Given the description of an element on the screen output the (x, y) to click on. 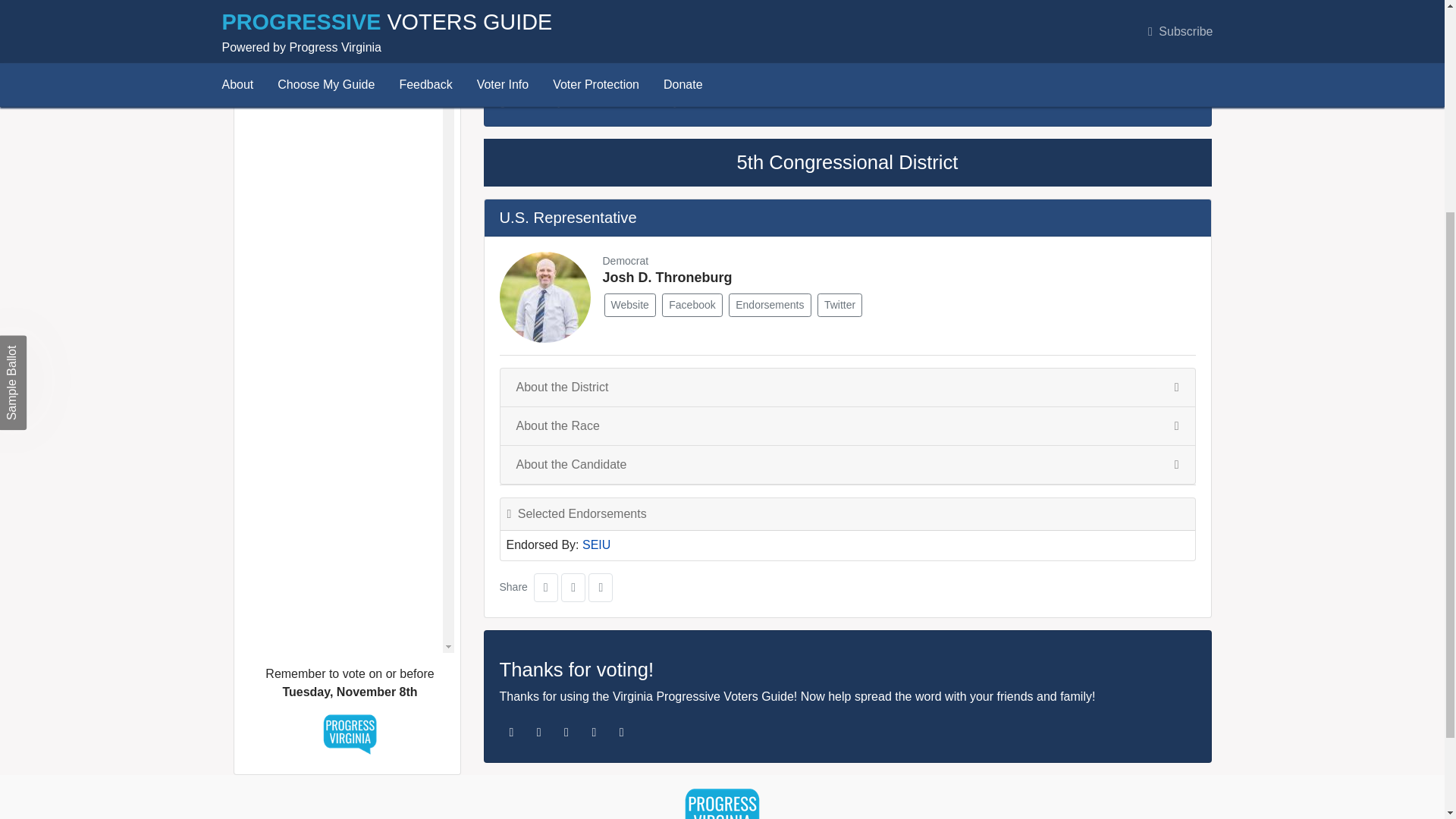
5th Congressional District (847, 161)
Website (629, 304)
5th Congressional District (313, 4)
Josh D. Throneburg (667, 277)
About the District (847, 387)
U.S. Representative Josh D. Throneburg (339, 33)
Facebook (692, 304)
Twitter (838, 304)
Selected Endorsements (847, 514)
Endorsements (769, 304)
About the Candidate (847, 465)
About the Race (847, 425)
SEIU (596, 544)
U.S. Representative (567, 217)
